Given the description of an element on the screen output the (x, y) to click on. 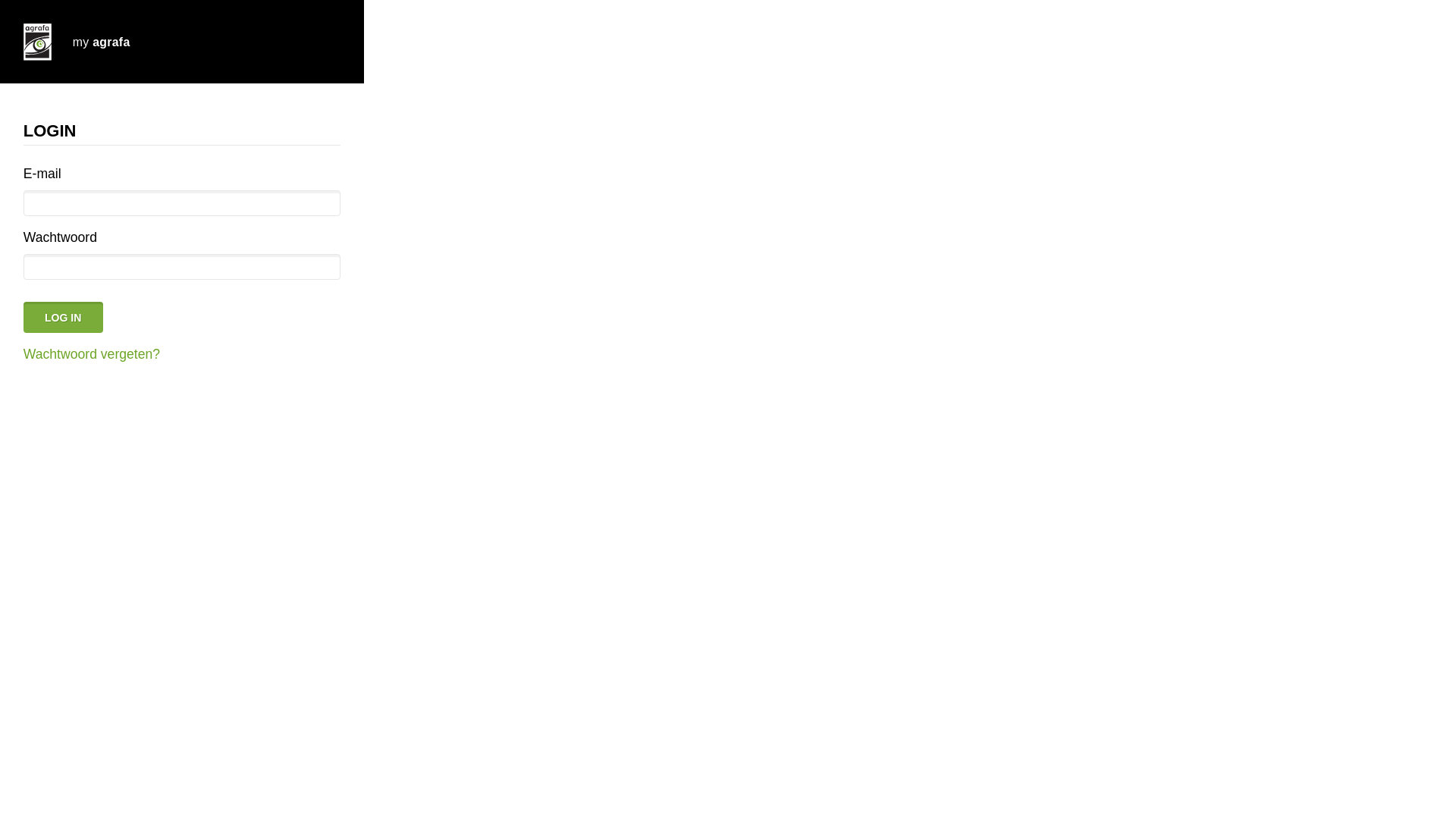
Log in Element type: text (63, 316)
my agrafa Element type: text (182, 41)
Wachtwoord vergeten? Element type: text (91, 353)
